Given the description of an element on the screen output the (x, y) to click on. 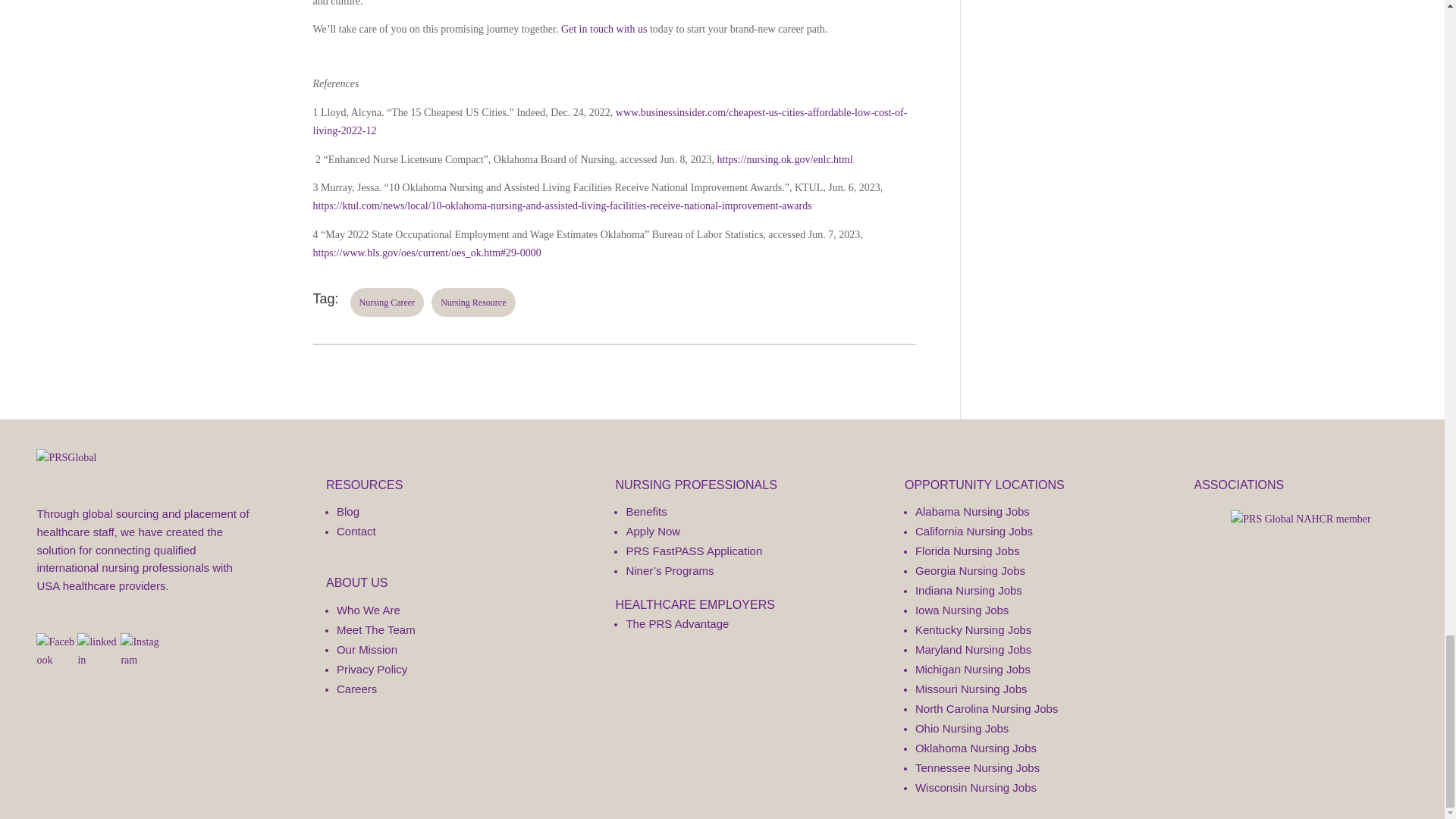
Nursing Resource (472, 302)
Instagram (140, 651)
Our Mission (366, 649)
Get in touch with us (604, 29)
Who We Are (368, 609)
Contact (355, 530)
Nursing Career (387, 302)
PRS Global NAHCR member (1300, 519)
Blog (347, 511)
Meet The Team (375, 629)
Facebook (56, 651)
PRSGlobal (66, 457)
linkedin (97, 651)
Privacy Policy (371, 668)
ABOUT US (357, 582)
